Given the description of an element on the screen output the (x, y) to click on. 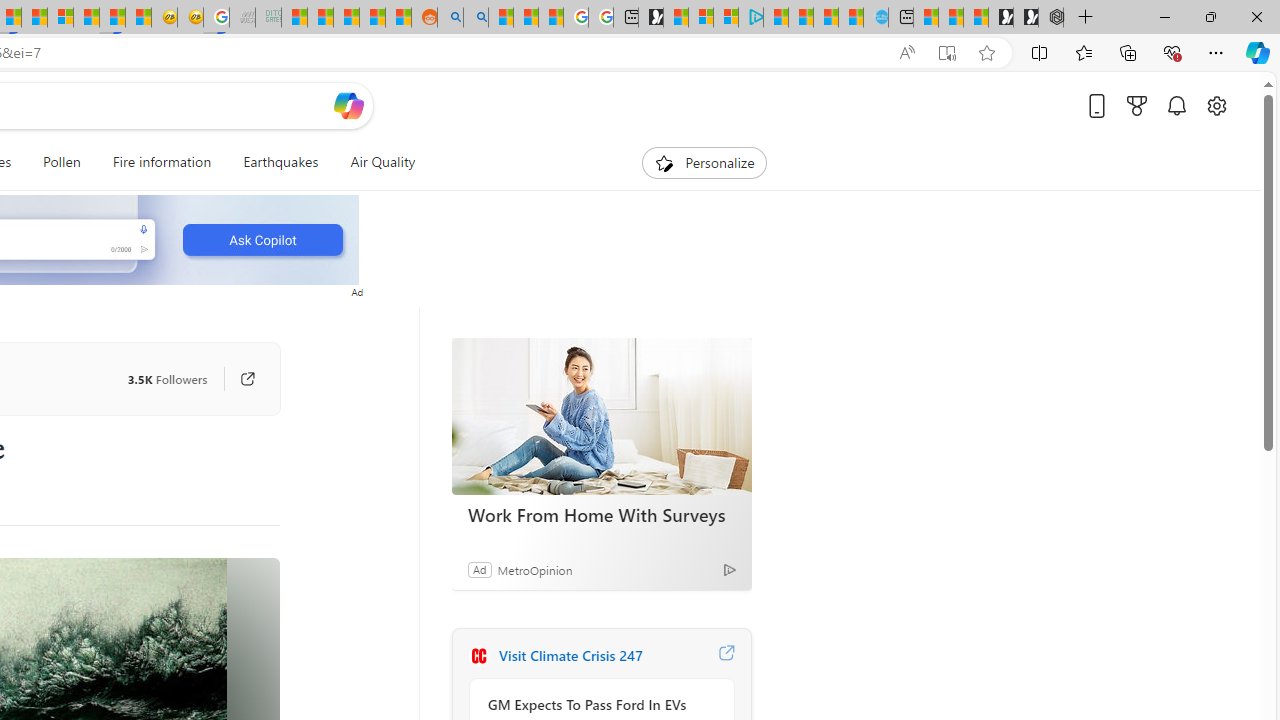
Earthquakes (280, 162)
Fire information (162, 162)
Air Quality (382, 162)
Work From Home With Surveys (601, 515)
Climate Crisis 247 (478, 655)
